Given the description of an element on the screen output the (x, y) to click on. 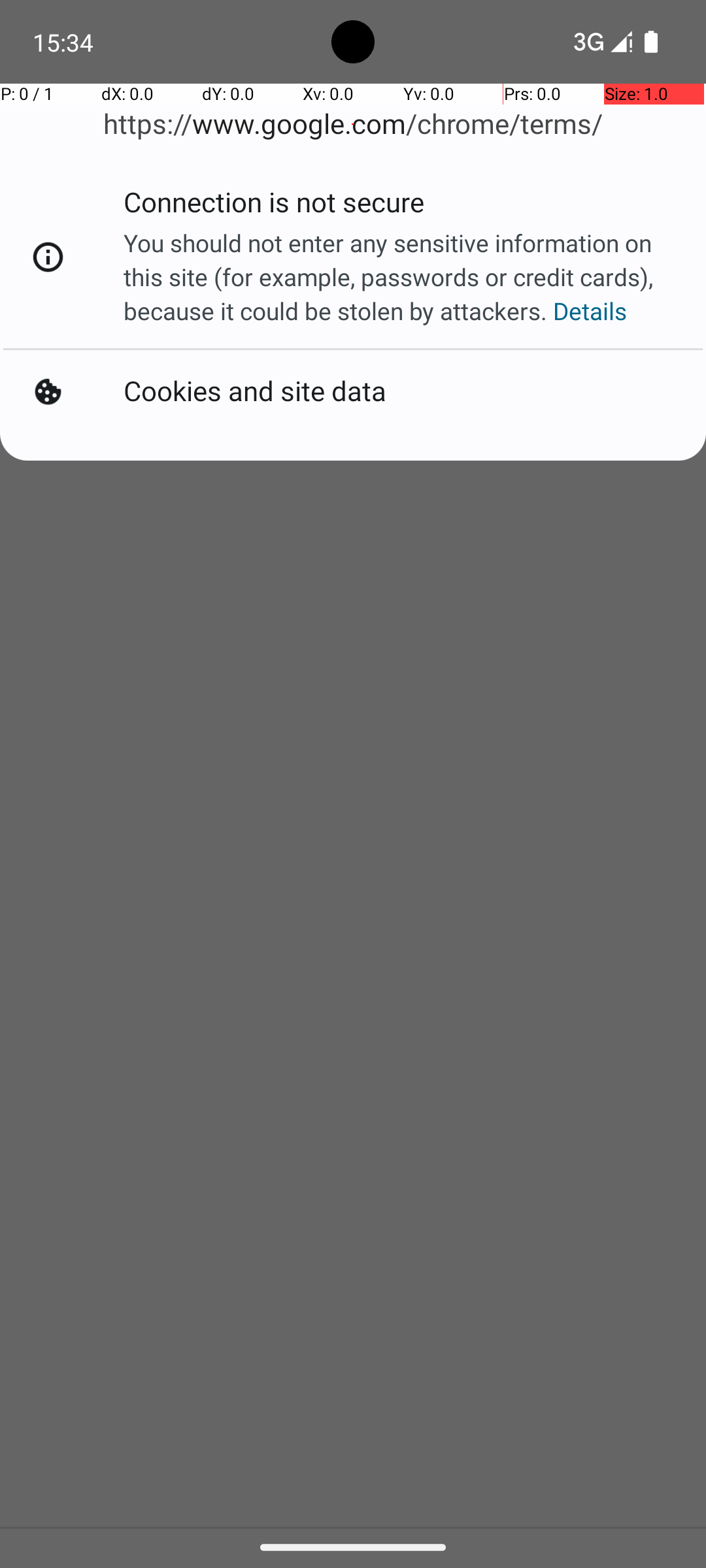
https://www.google.com/chrome/terms/ Element type: android.widget.TextView (352, 124)
Connection is not secure Element type: android.widget.TextView (273, 206)
You should not enter any sensitive information on this site (for example, passwords or credit cards), because it could be stolen by attackers. Details Element type: android.widget.TextView (400, 276)
Cookies and site data Element type: android.widget.TextView (254, 391)
